Given the description of an element on the screen output the (x, y) to click on. 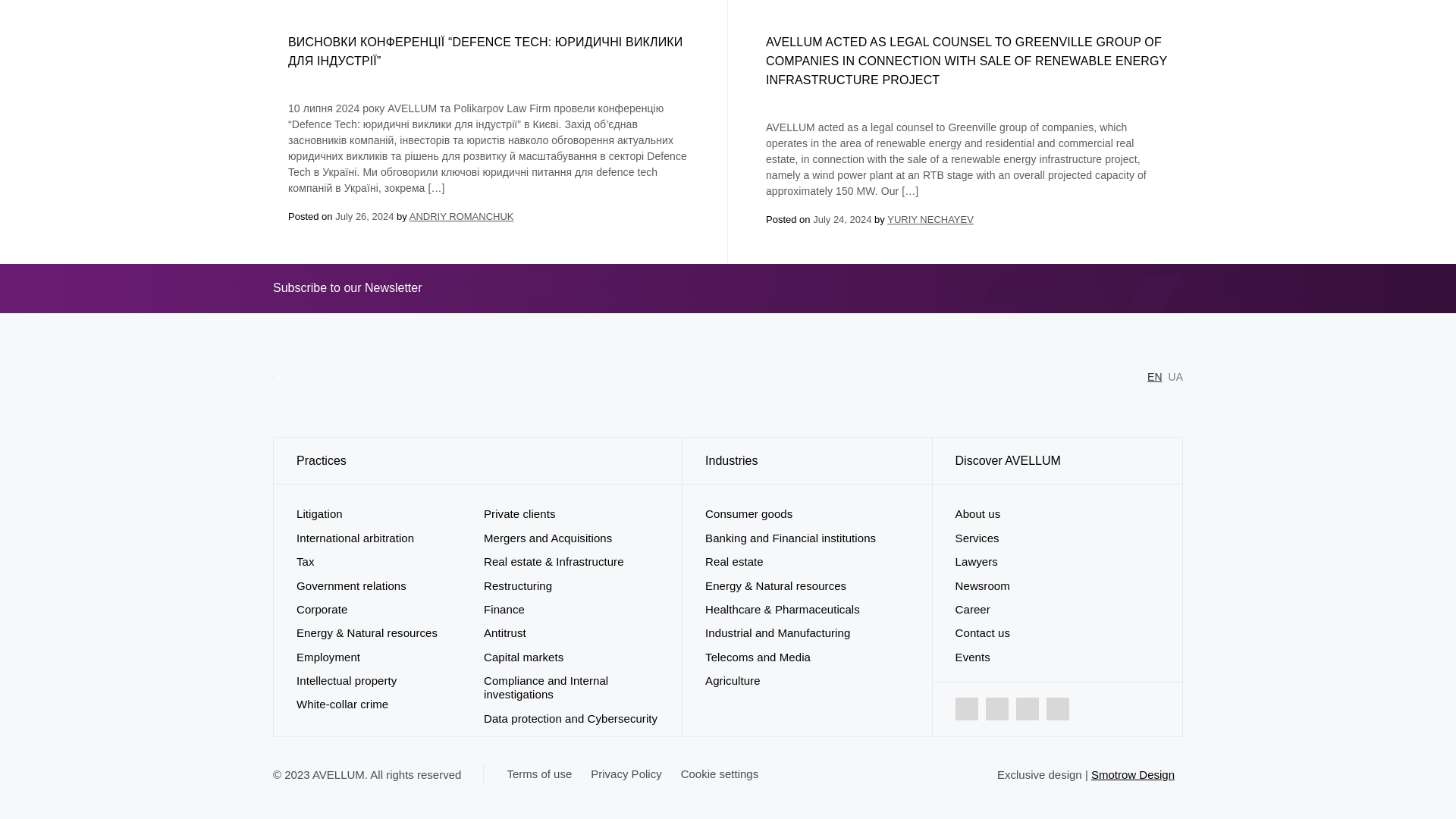
YURIY NECHAYEV (930, 219)
ANDRIY ROMANCHUK (461, 215)
